Given the description of an element on the screen output the (x, y) to click on. 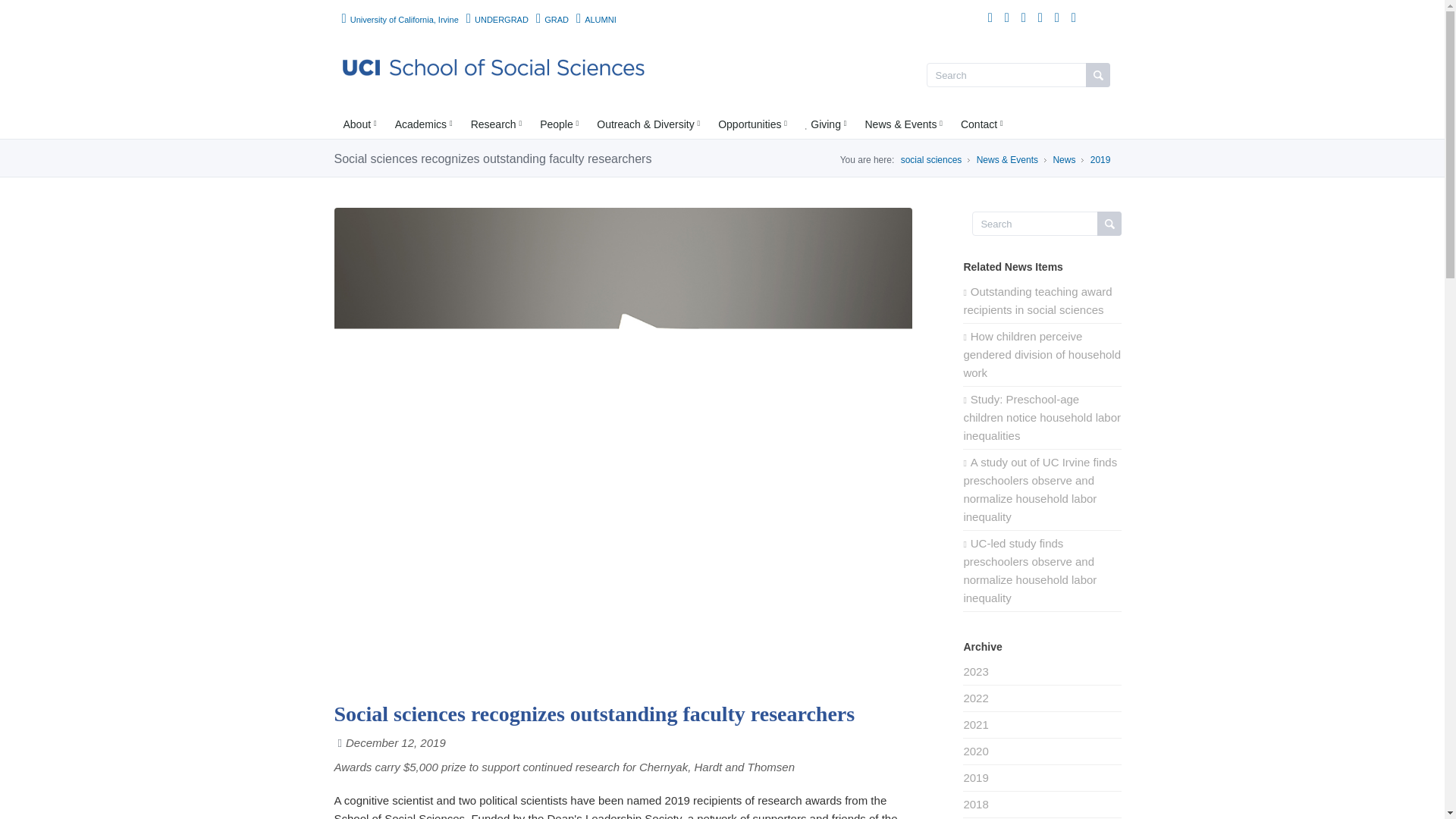
GRAD (552, 19)
Research  (496, 123)
About  (359, 123)
Search (1046, 223)
ALUMNI (595, 19)
Outstanding teaching award recipients in social sciences (1041, 300)
Search (1017, 74)
Search (1017, 74)
University of California, Irvine (399, 19)
Academics  (423, 123)
Search (1046, 223)
UNDERGRAD (496, 19)
